Given the description of an element on the screen output the (x, y) to click on. 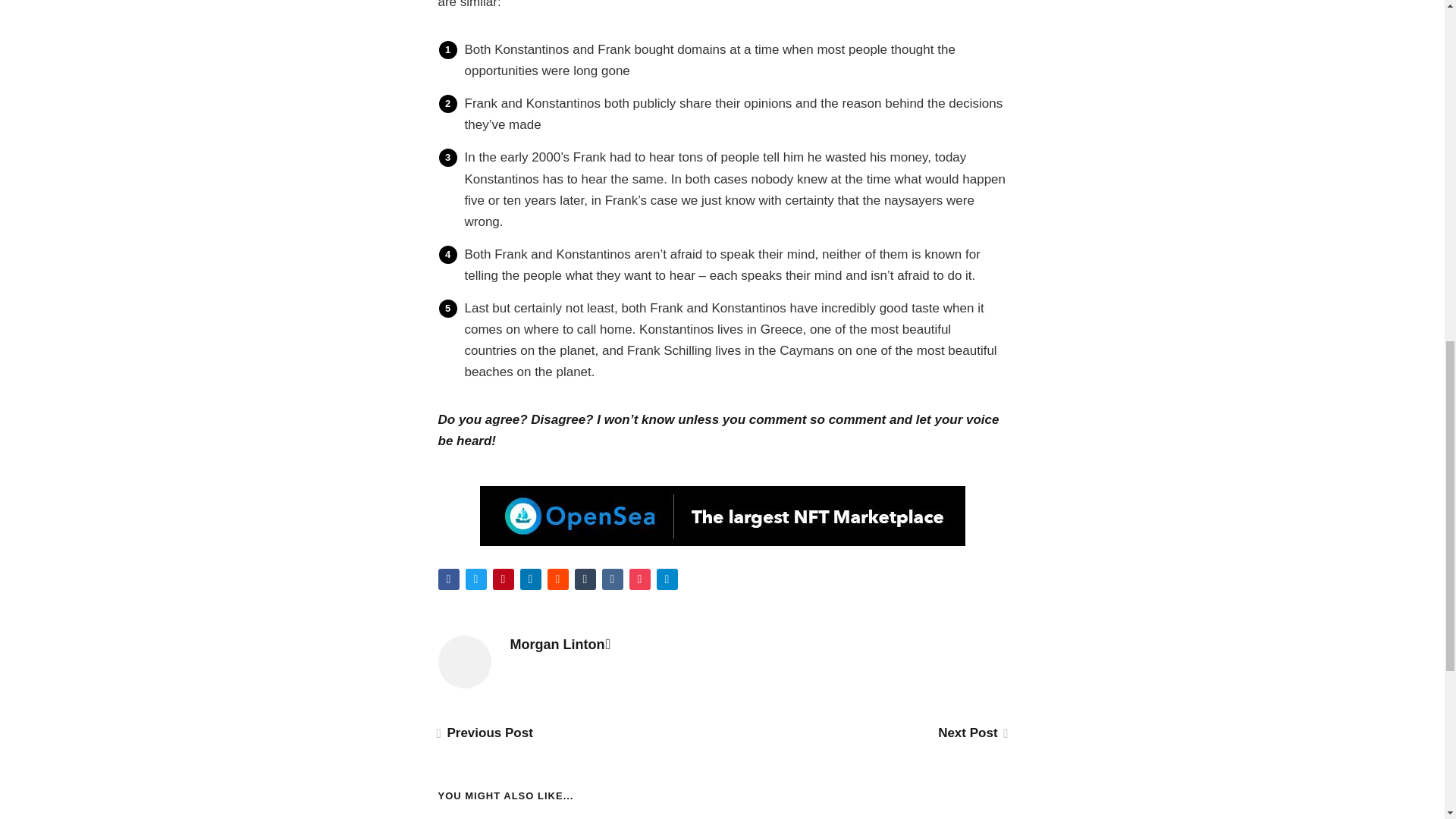
Previous Post (485, 732)
Next Post (971, 732)
